Given the description of an element on the screen output the (x, y) to click on. 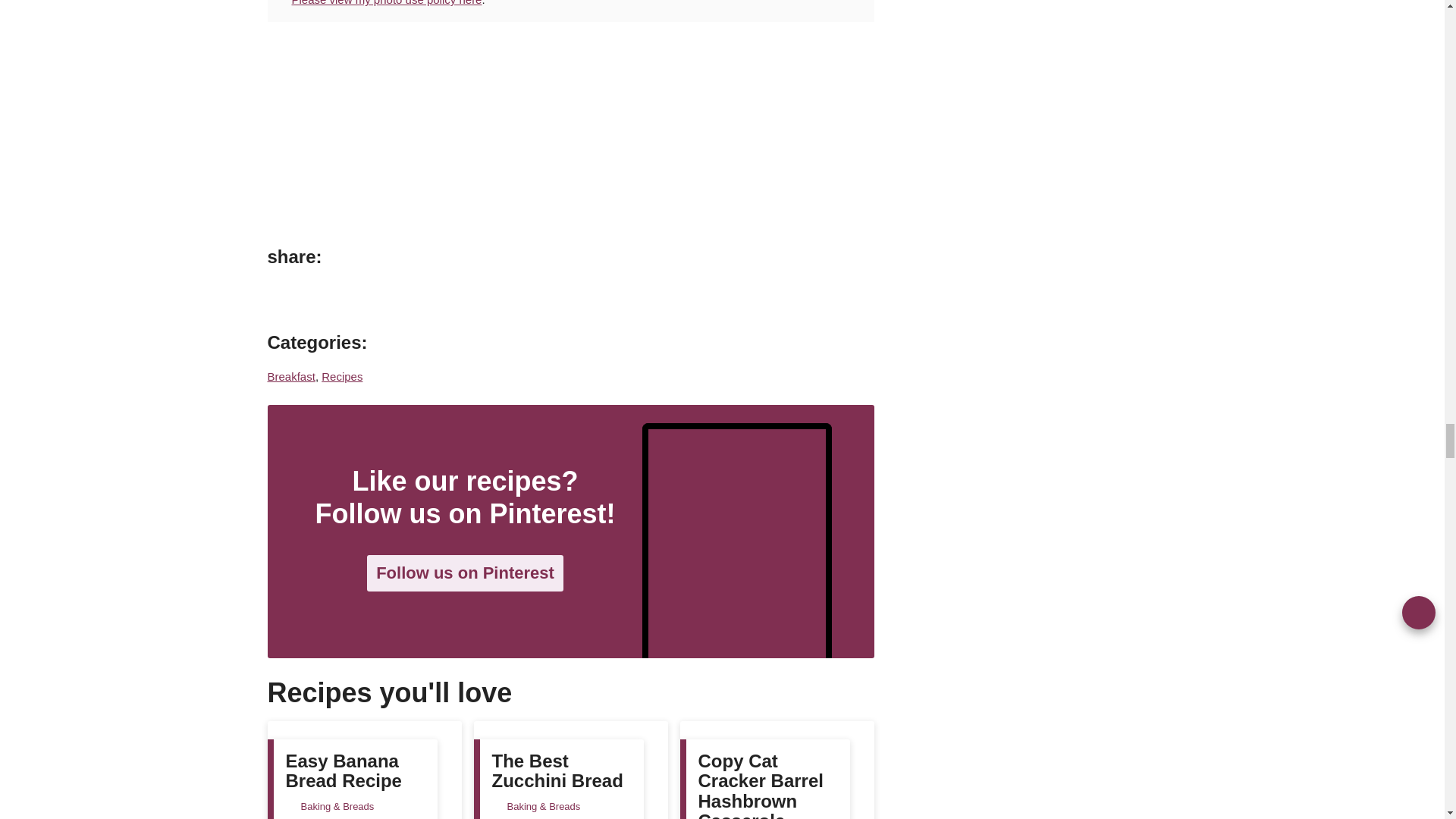
Share on Yummly (383, 296)
Share on Pinterest (282, 296)
Share on Twitter (349, 296)
Share via Email (416, 296)
Share on Facebook (316, 296)
